Given the description of an element on the screen output the (x, y) to click on. 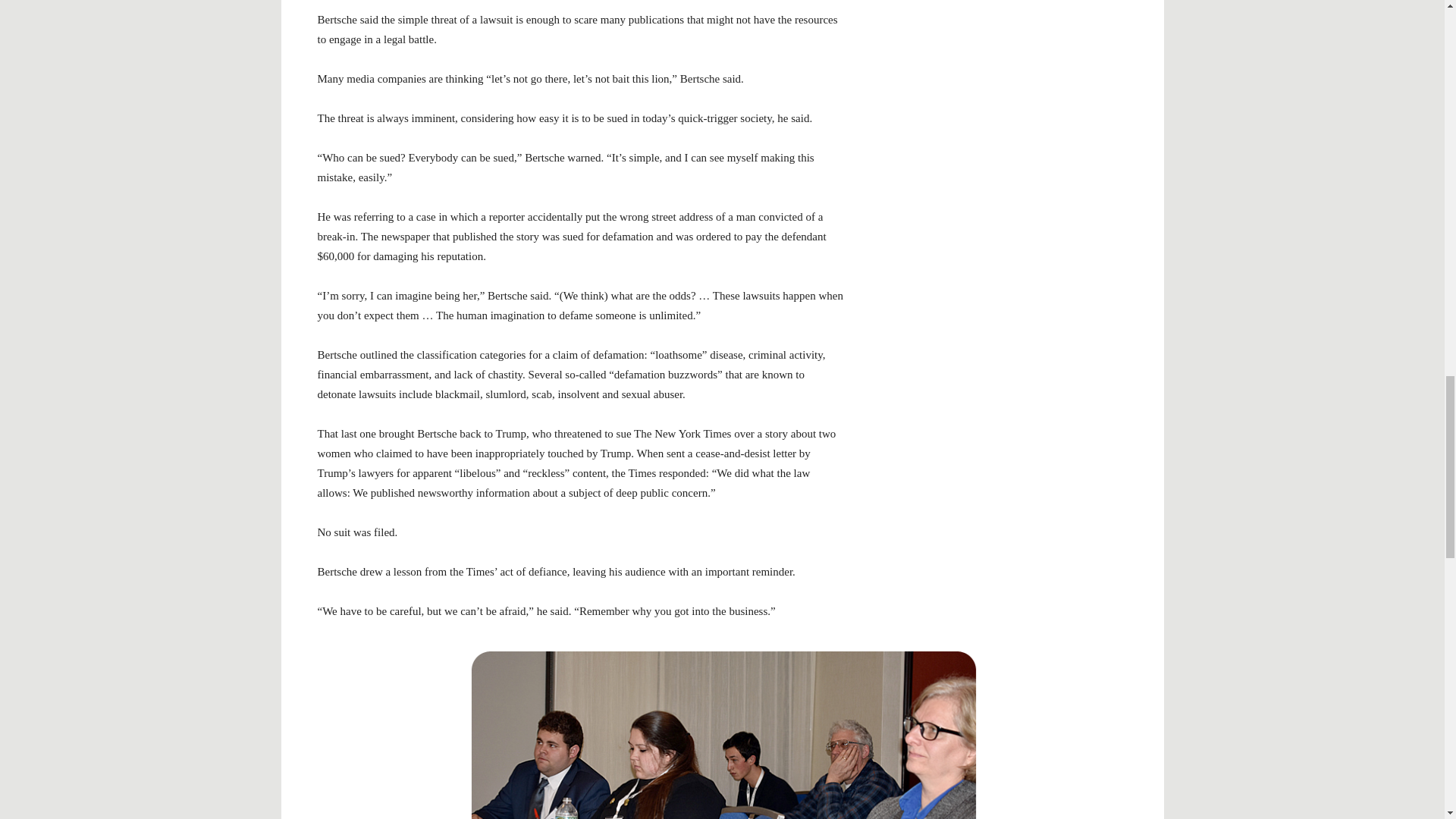
Audience-learning-about-libel-law (721, 733)
